Given the description of an element on the screen output the (x, y) to click on. 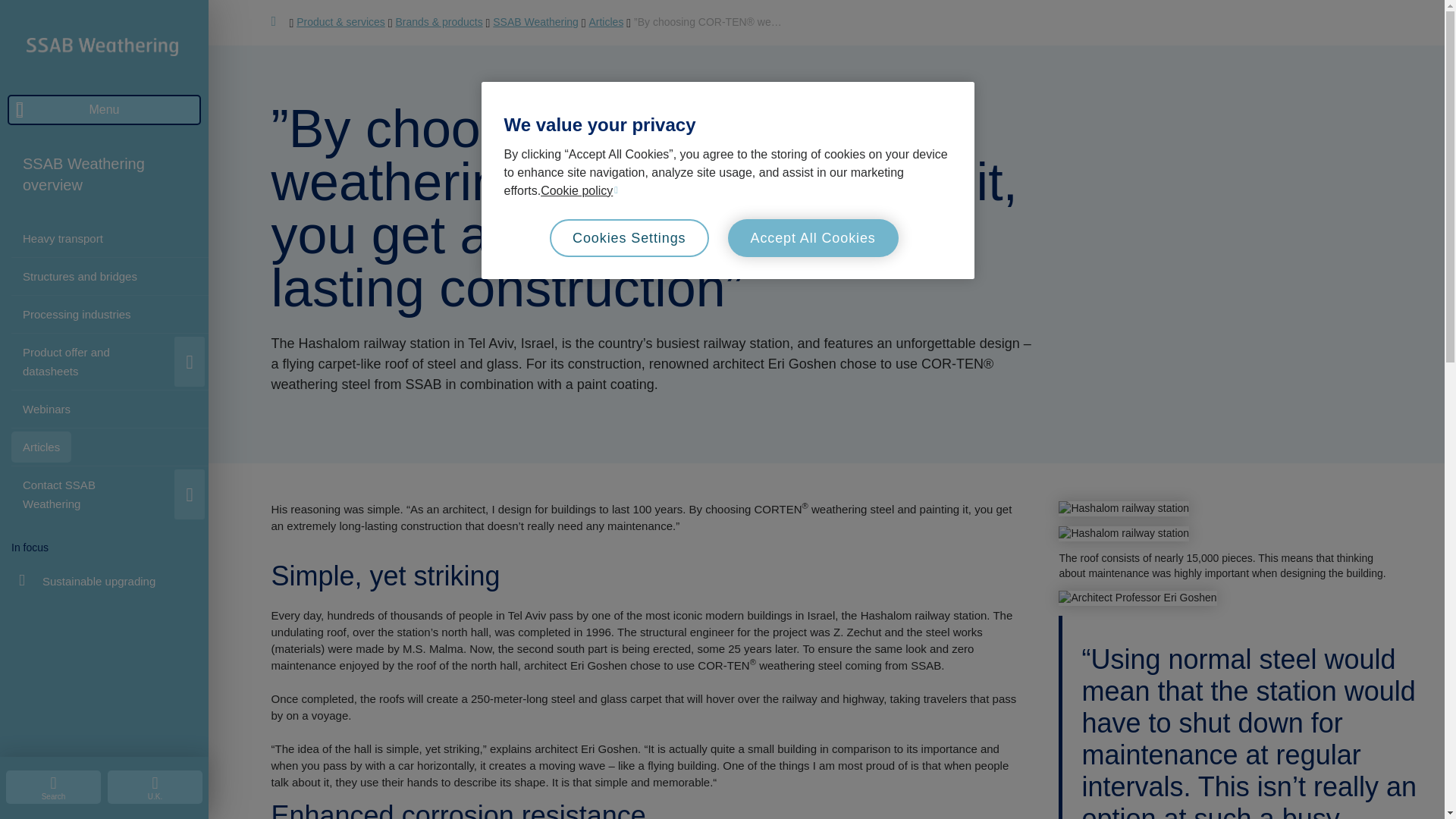
Contact SSAB Weathering (115, 494)
Sustainable upgrading (86, 581)
Menu (103, 110)
Product offer and datasheets (89, 361)
Search (52, 786)
Structures and bridges (79, 276)
U.K. (154, 786)
Articles (41, 446)
Webinars (46, 409)
Processing industries (76, 314)
SSAB Weathering overview (105, 174)
Heavy transport (63, 237)
